Given the description of an element on the screen output the (x, y) to click on. 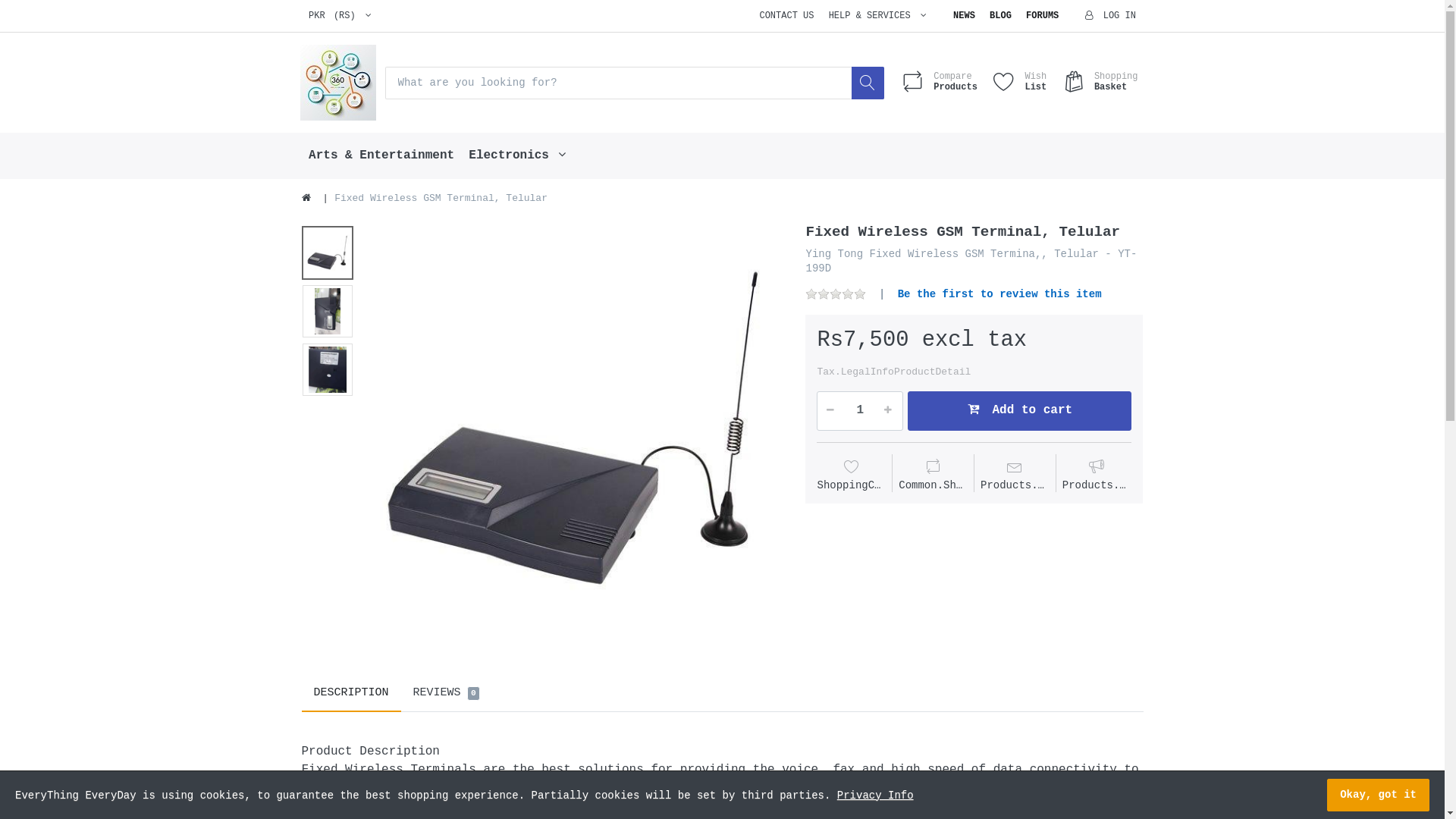
Shopping
Basket Element type: text (1098, 82)
Wish
List Element type: text (1018, 82)
Privacy Info Element type: text (875, 794)
ShoppingCart.AddToWishlist.Short Element type: text (850, 475)
Fixed Wireless GSM Terminal, Telular, Picture 1 large Element type: hover (326, 252)
EveryThing EveryDay Element type: hover (338, 82)
HELP & SERVICES Element type: text (877, 15)
Search Element type: hover (867, 82)
Fixed Wireless GSM Terminal, Telular Element type: hover (575, 430)
Products.EmailAFriend Element type: text (1096, 475)
NEWS Element type: text (963, 15)
Arts & Entertainment Element type: text (381, 155)
PKR (RS) Element type: text (340, 15)
BLOG Element type: text (1000, 15)
Be the first to review this item Element type: text (999, 294)
REVIEWS0 Element type: text (446, 693)
Compare
Products Element type: text (938, 82)
Add to cart Element type: text (1019, 410)
Fixed Wireless GSM Terminal, Telular, Picture 2 large Element type: hover (326, 311)
Fixed Wireless GSM Terminal, Telular, Picture 3 large Element type: hover (326, 369)
FORUMS Element type: text (1041, 15)
Common.Shopbar.Compare Element type: text (932, 475)
Okay, got it Element type: text (1378, 794)
Fixed Wireless GSM Terminal, Telular Element type: hover (575, 430)
Products.AskQuestion.Short Element type: text (1014, 475)
Electronics Element type: text (517, 155)
DESCRIPTION Element type: text (351, 693)
CONTACT US Element type: text (786, 15)
LOG IN Element type: text (1110, 15)
Top Element type: hover (305, 198)
